Given the description of an element on the screen output the (x, y) to click on. 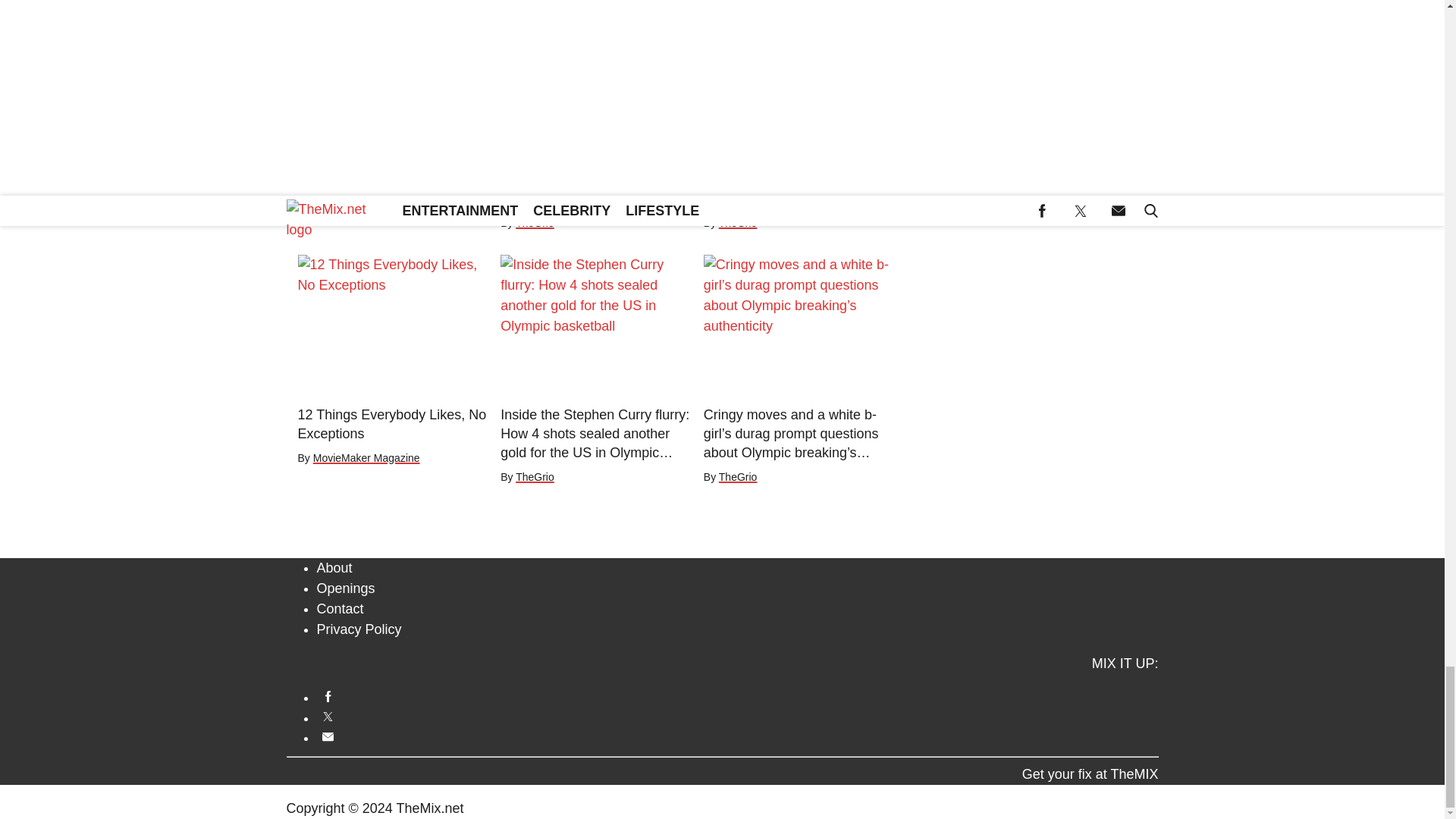
Follow us on Facebook (737, 696)
Send us an email (737, 736)
Follow us on Twitter (737, 716)
TheGrio (534, 223)
TheGrio (331, 203)
